Given the description of an element on the screen output the (x, y) to click on. 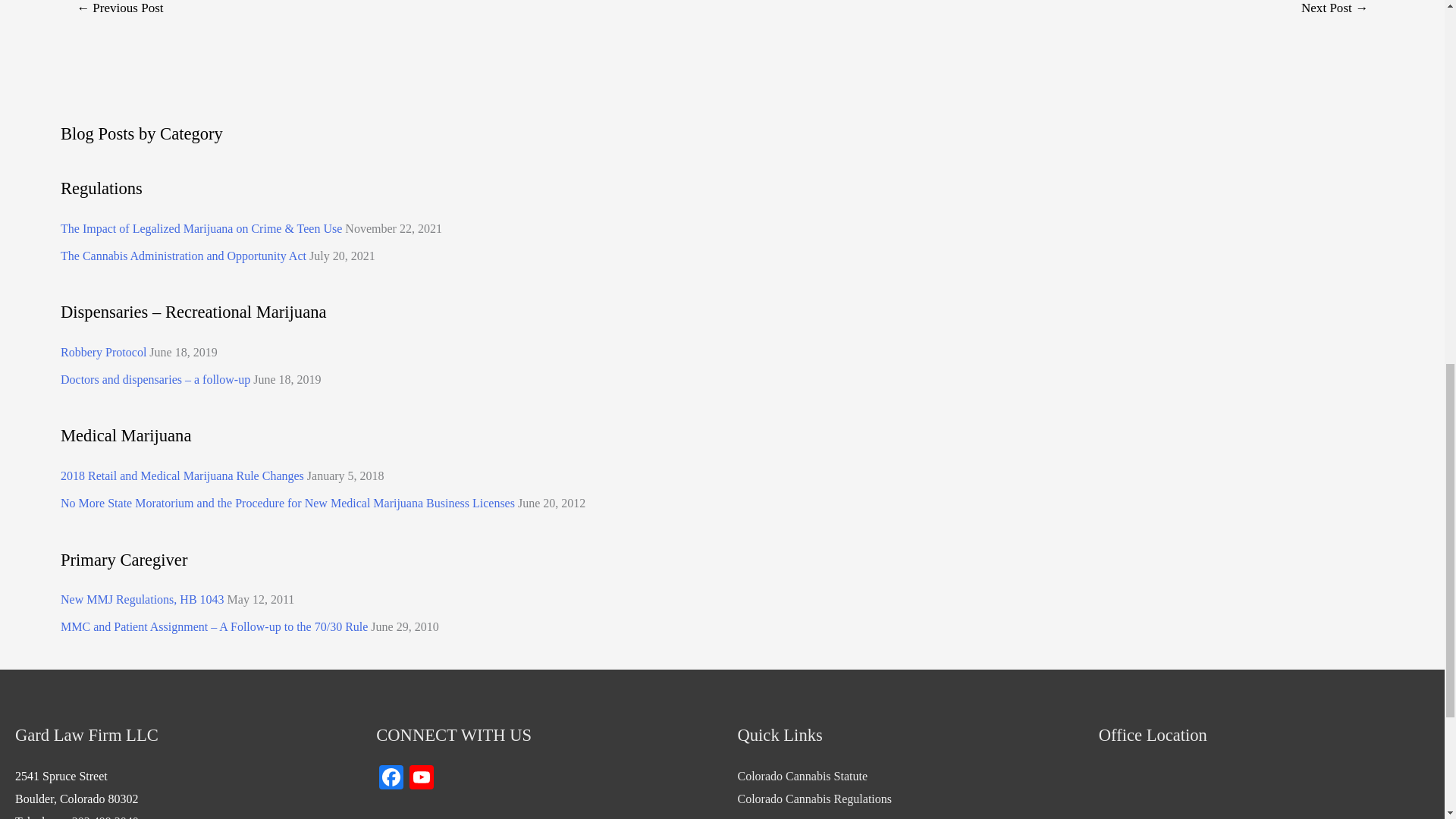
YouTube (421, 778)
Robbery Protocol (104, 351)
Colorado Cannabis Statute (801, 775)
2018 Retail and Medical Marijuana Rule Changes (182, 475)
Colorado Cannabis Regulations (813, 798)
New MMJ Regulations, HB 1043 (142, 599)
Facebook (390, 778)
303.499.3040 (104, 816)
The Cannabis Administration and Opportunity Act (183, 255)
Facebook (390, 778)
YouTube (421, 778)
